Given the description of an element on the screen output the (x, y) to click on. 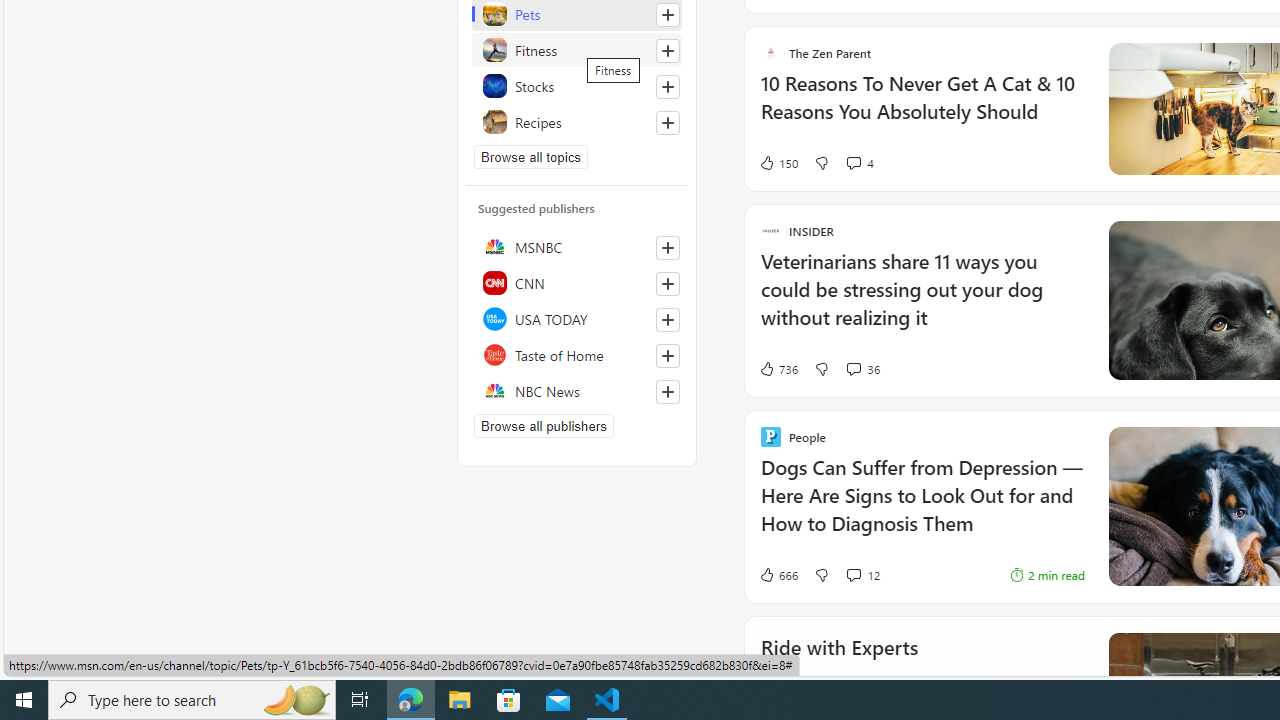
NBC News (577, 390)
Dislike (821, 574)
View comments 4 Comment (859, 162)
Follow this source (667, 391)
View comments 4 Comment (852, 162)
View comments 12 Comment (862, 574)
150 Like (778, 162)
666 Like (778, 574)
Follow this topic (667, 122)
CNN (577, 282)
View comments 36 Comment (862, 368)
Browse all topics (530, 156)
